Given the description of an element on the screen output the (x, y) to click on. 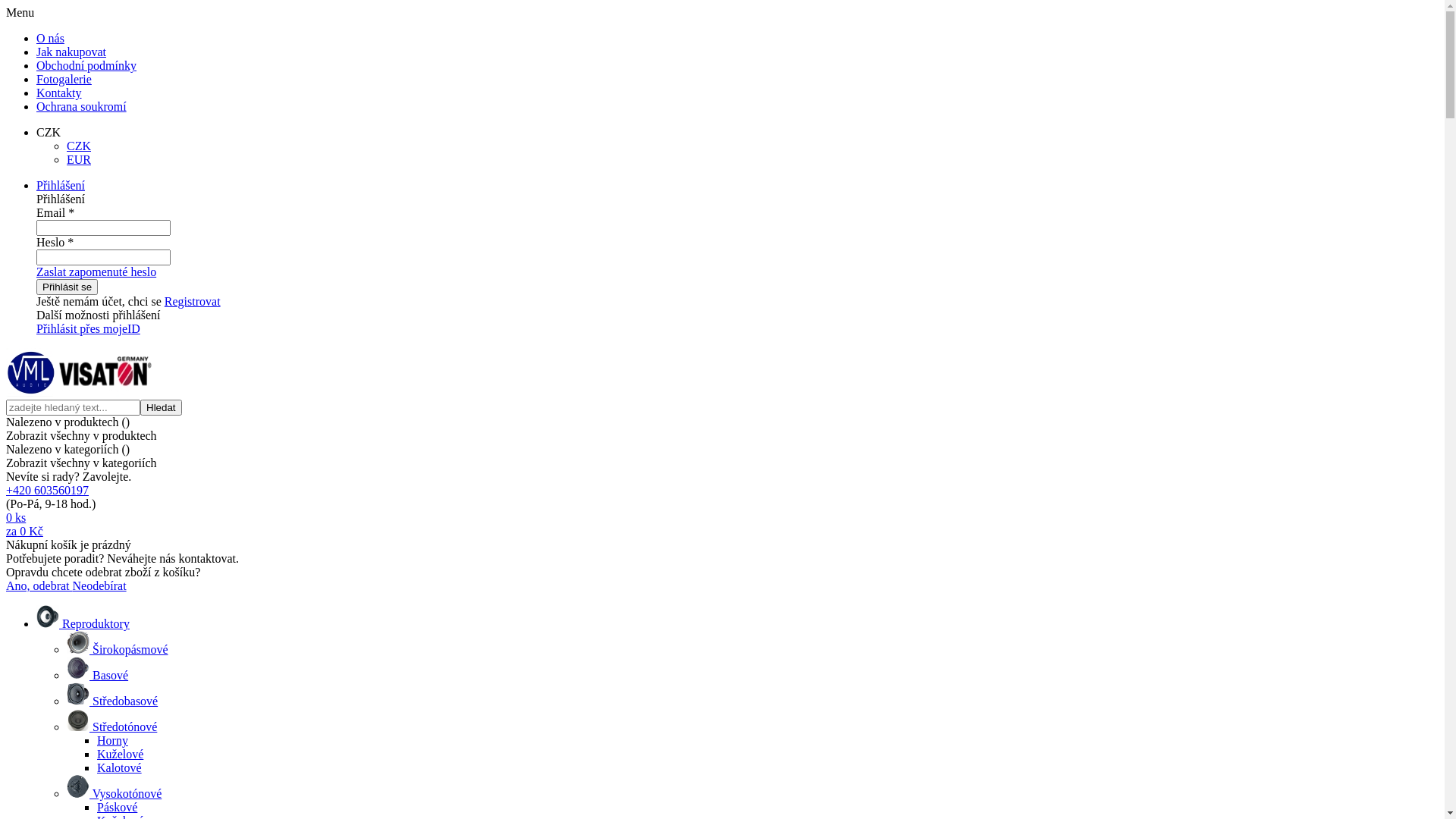
Jak nakupovat Element type: text (71, 51)
Horny Element type: text (112, 740)
Hledat Element type: text (161, 407)
Reproduktory Element type: text (82, 623)
Kontakty Element type: text (58, 92)
Fotogalerie Element type: text (63, 78)
CZK Element type: text (78, 145)
Ano, odebrat Element type: text (39, 585)
Registrovat Element type: text (192, 300)
+420 603560197 Element type: text (47, 489)
EUR Element type: text (78, 159)
